Given the description of an element on the screen output the (x, y) to click on. 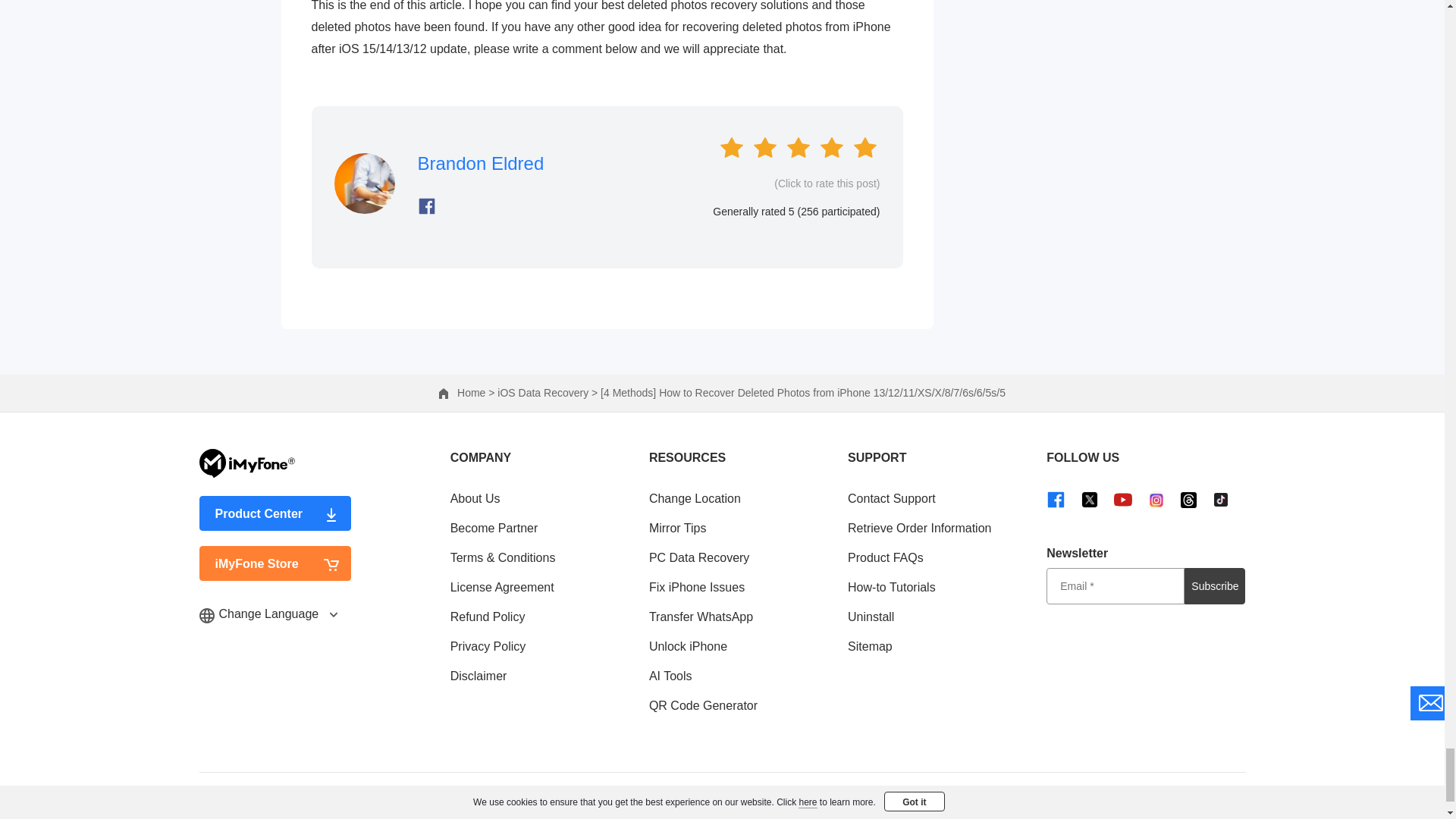
ins (1156, 498)
tiktok (1220, 498)
twitter (1089, 498)
facebook (1055, 498)
youtube (1122, 498)
